Given the description of an element on the screen output the (x, y) to click on. 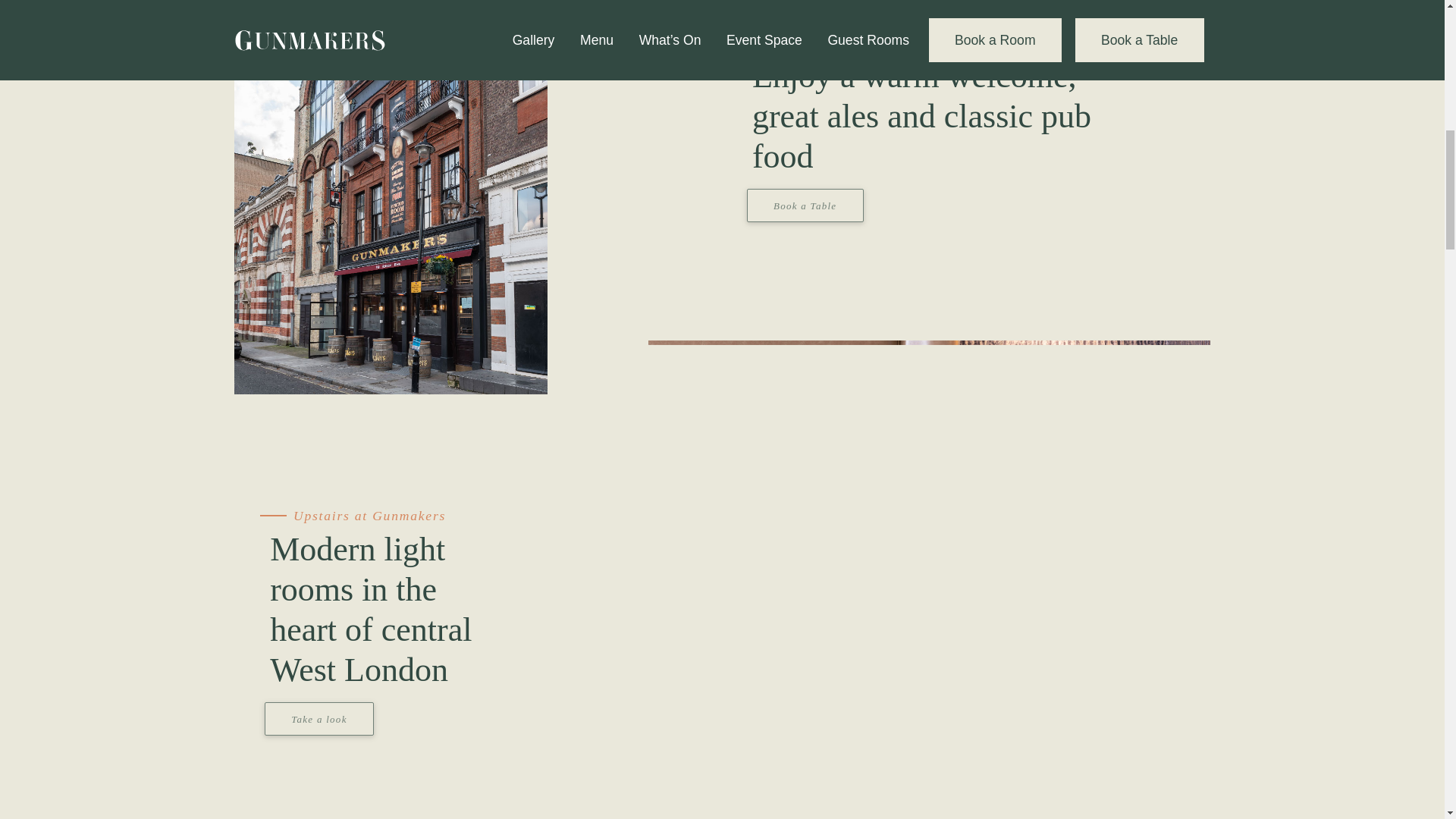
Take a look (319, 718)
Book a Table (804, 200)
Book a Table (804, 205)
Take a look (319, 713)
